Given the description of an element on the screen output the (x, y) to click on. 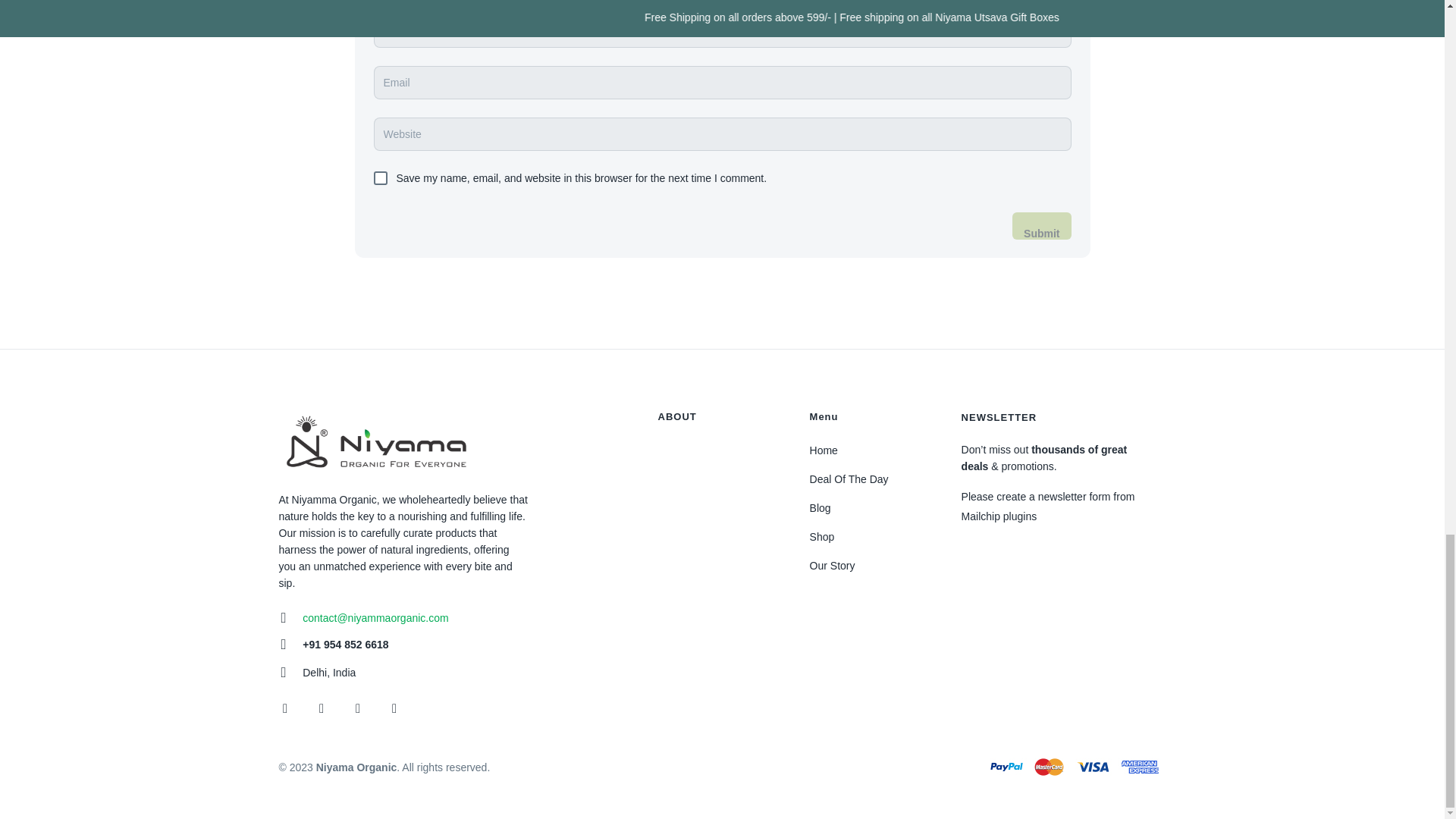
Submit (1040, 225)
